Given the description of an element on the screen output the (x, y) to click on. 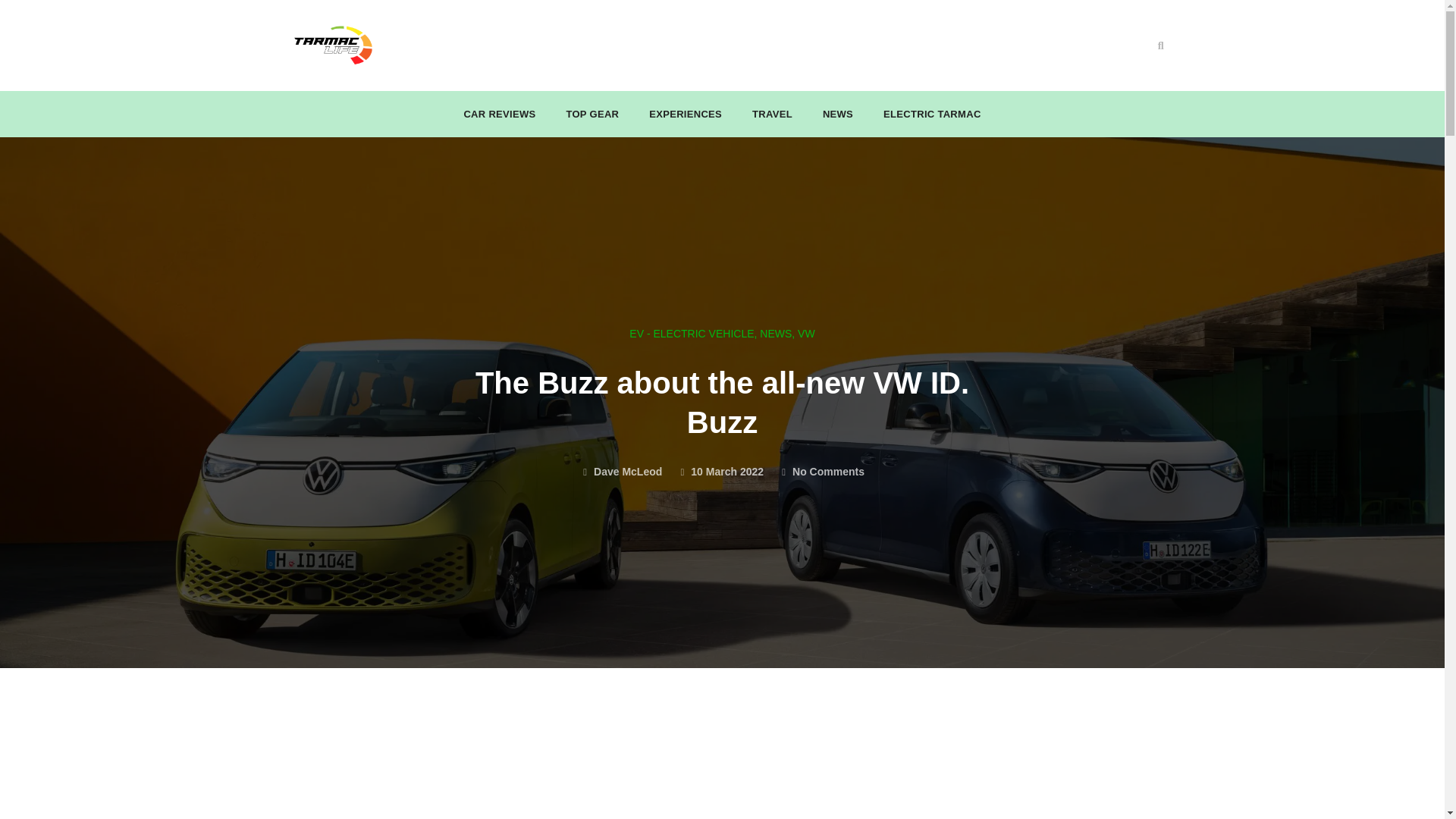
No Comments (821, 471)
VW (806, 333)
TRAVEL (771, 113)
Advertisement (722, 766)
ELECTRIC TARMAC (932, 113)
NEWS (776, 333)
10 March 2022 (719, 471)
NEWS (837, 113)
EV - ELECTRIC VEHICLE (691, 333)
Dave McLeod (620, 471)
TOP GEAR (591, 113)
Advertisement (687, 42)
CAR REVIEWS (499, 113)
EXPERIENCES (685, 113)
